Given the description of an element on the screen output the (x, y) to click on. 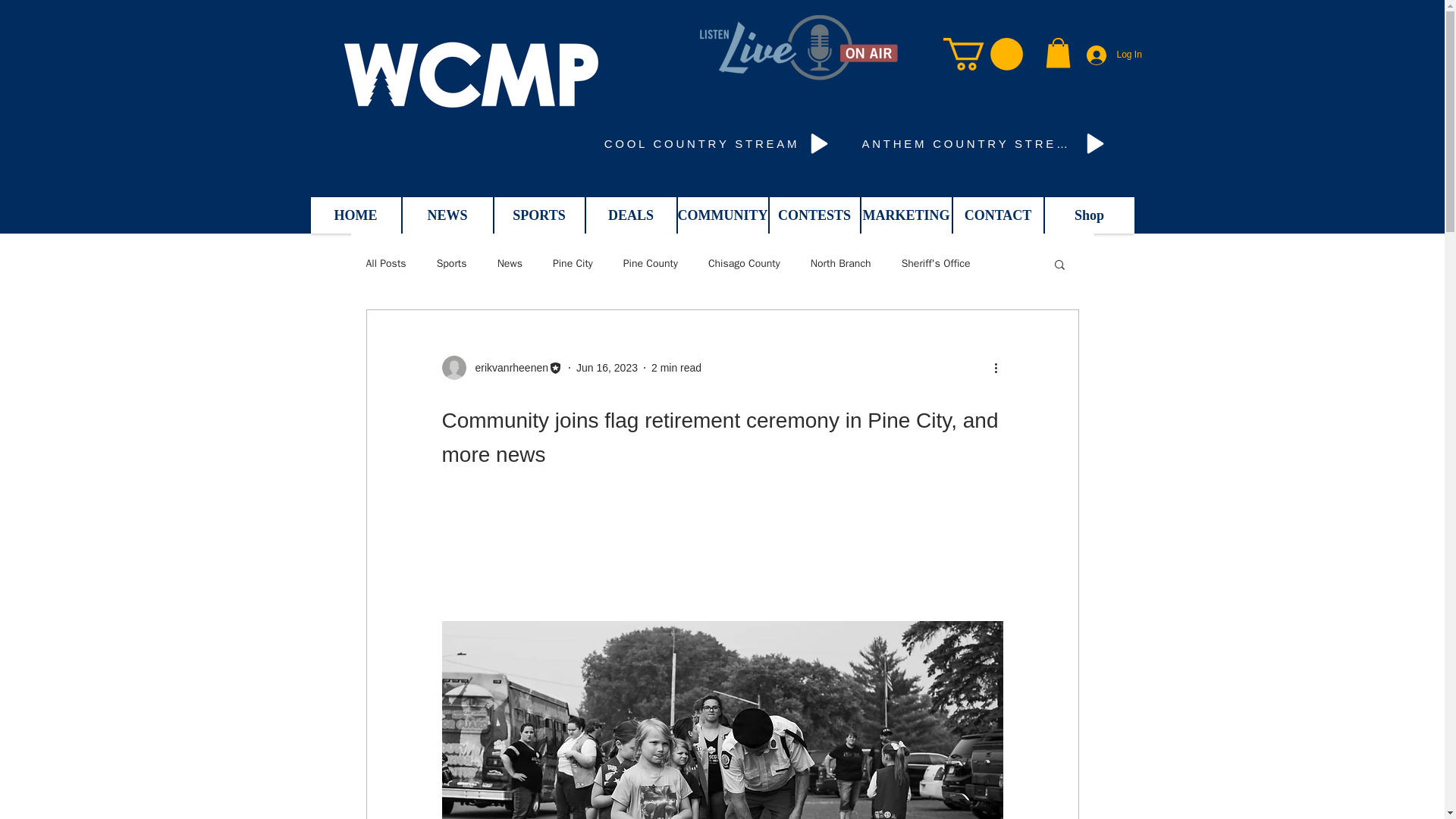
Log In (1112, 54)
erikvanrheenen (506, 367)
COMMUNITY (723, 215)
North Branch (840, 264)
COOL COUNTRY STREAM (718, 143)
Pine City (572, 264)
MARKETING (906, 215)
SPORTS (540, 215)
ANTHEM COUNTRY STREAM (986, 143)
Jun 16, 2023 (606, 367)
